Given the description of an element on the screen output the (x, y) to click on. 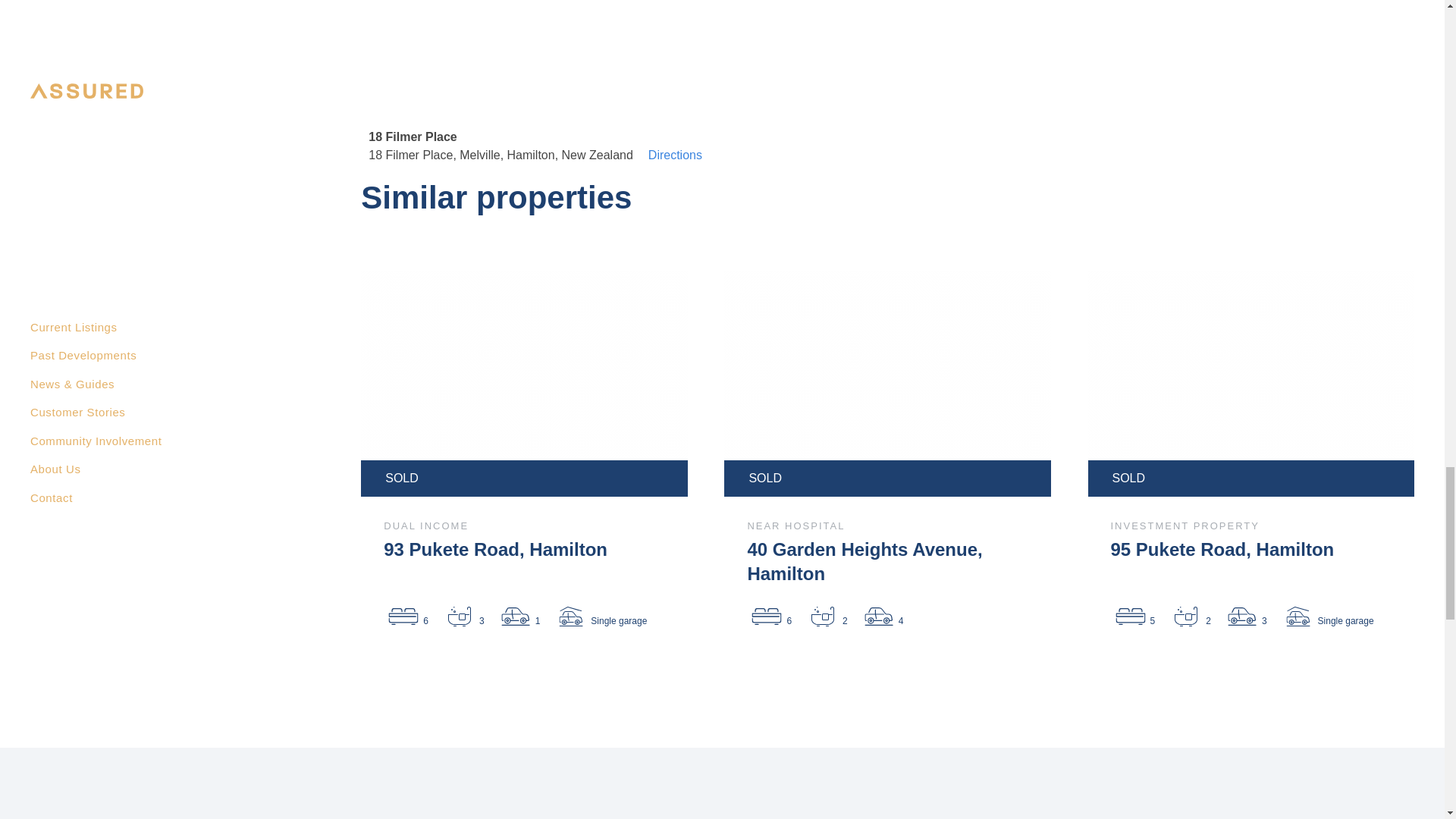
Directions (674, 145)
Google Maps Directions (674, 145)
